Given the description of an element on the screen output the (x, y) to click on. 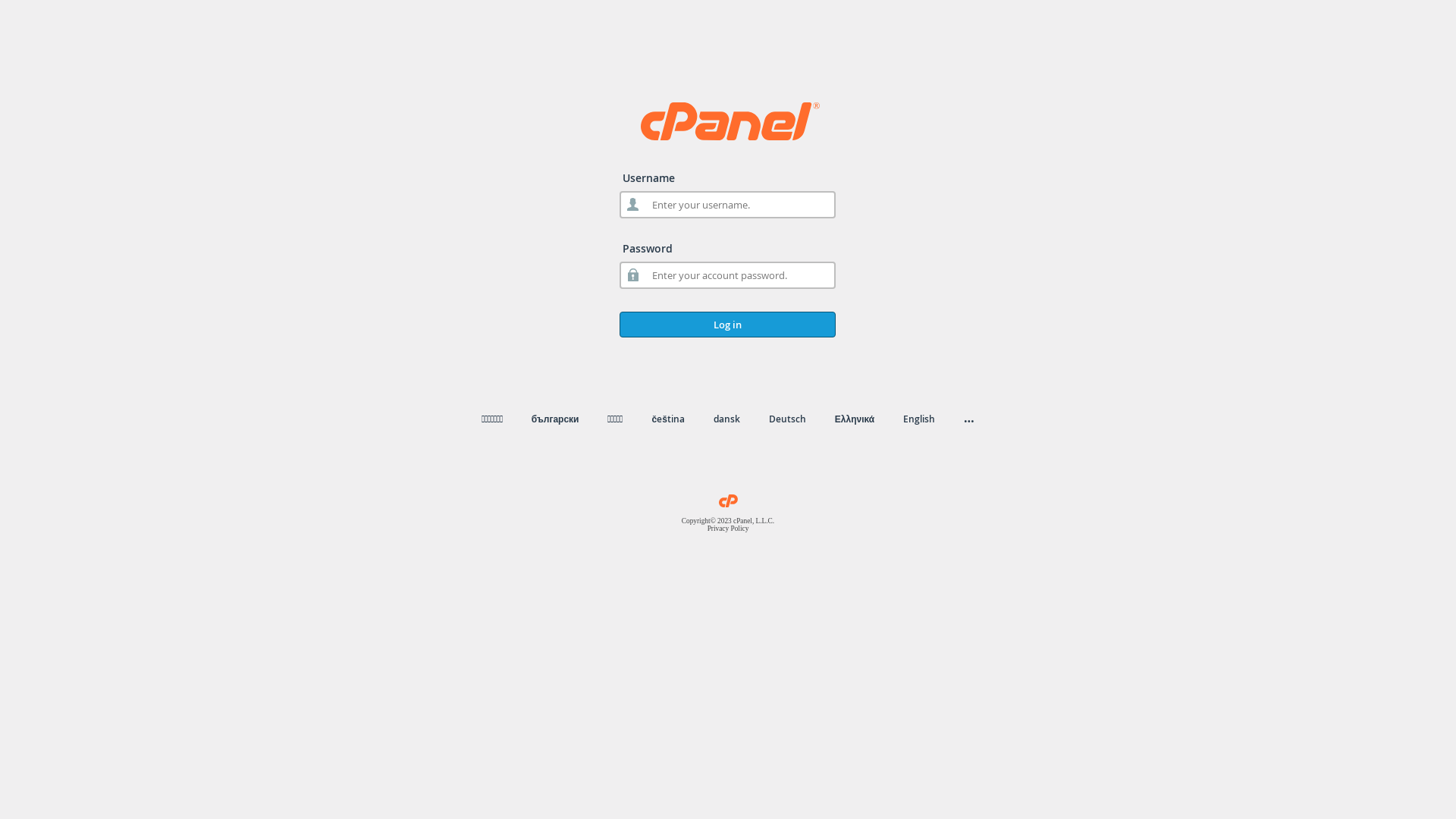
Log in Element type: text (727, 324)
dansk Element type: text (726, 418)
Deutsch Element type: text (787, 418)
Privacy Policy Element type: text (728, 528)
English Element type: text (919, 418)
